Given the description of an element on the screen output the (x, y) to click on. 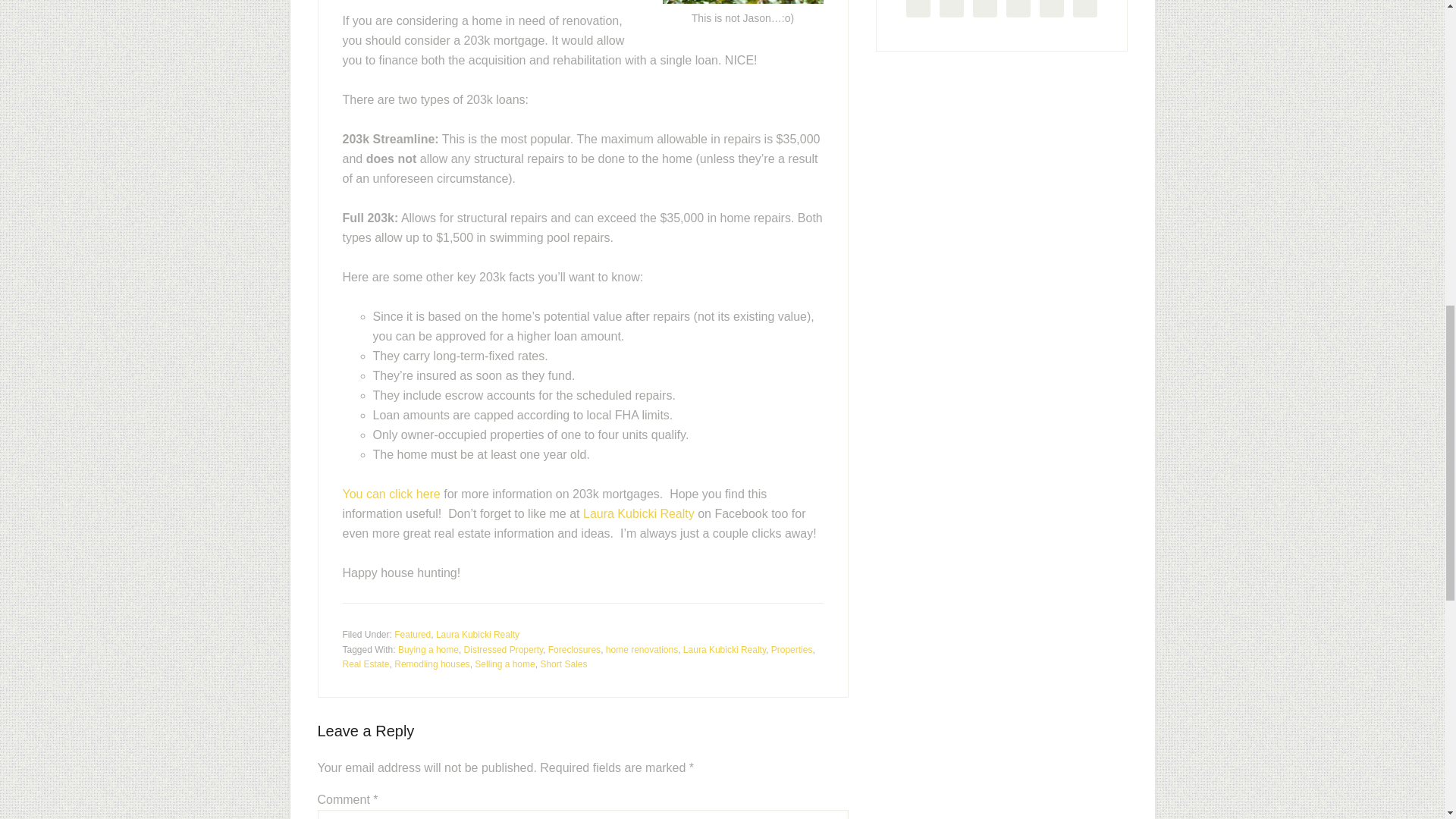
Foreclosures (573, 649)
Short Sales (563, 664)
Featured (412, 634)
You can click here (391, 493)
Buying a home (427, 649)
Properties (791, 649)
Laura Kubicki Realty (477, 634)
Distressed Property (503, 649)
Real Estate (366, 664)
Laura Kubicki Realty (638, 513)
home renovations (641, 649)
Selling a home (504, 664)
Remodling houses (431, 664)
Laura Kubicki Realty (723, 649)
